Given the description of an element on the screen output the (x, y) to click on. 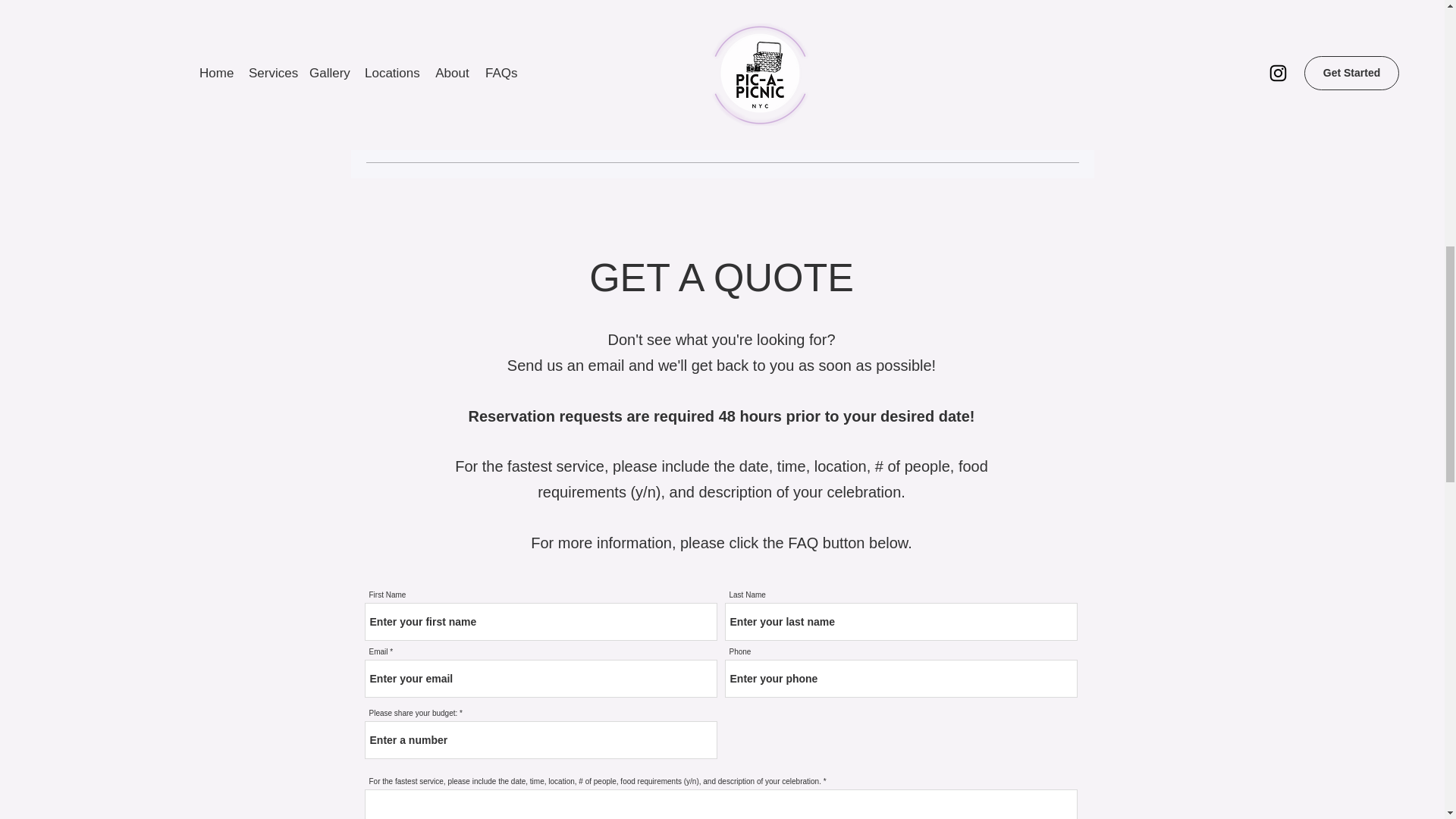
Book Now (1020, 46)
Read More (636, 95)
LEISURE LOUNGE (636, 43)
